Given the description of an element on the screen output the (x, y) to click on. 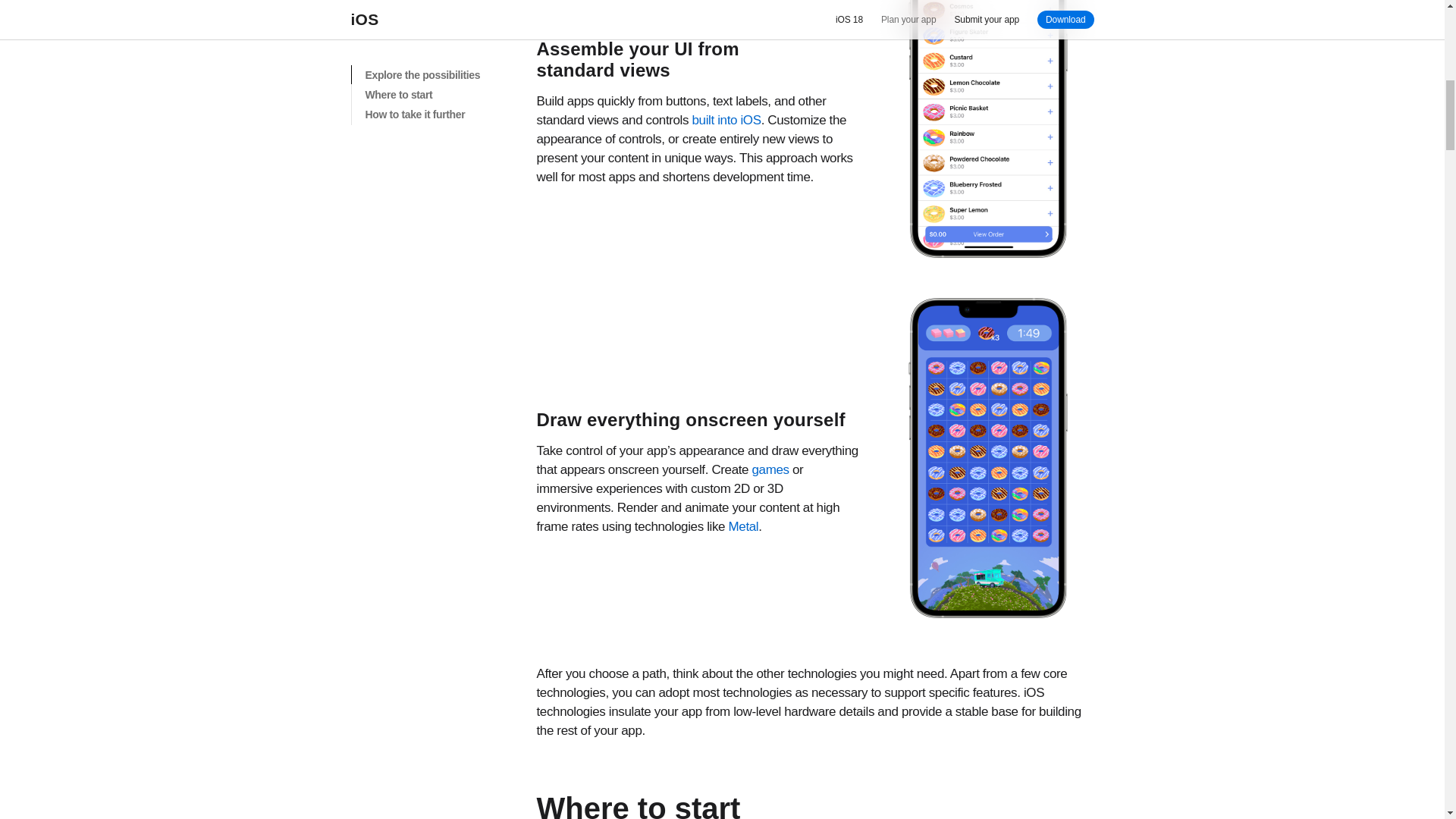
games (770, 469)
built into iOS (725, 120)
Metal (743, 526)
